Given the description of an element on the screen output the (x, y) to click on. 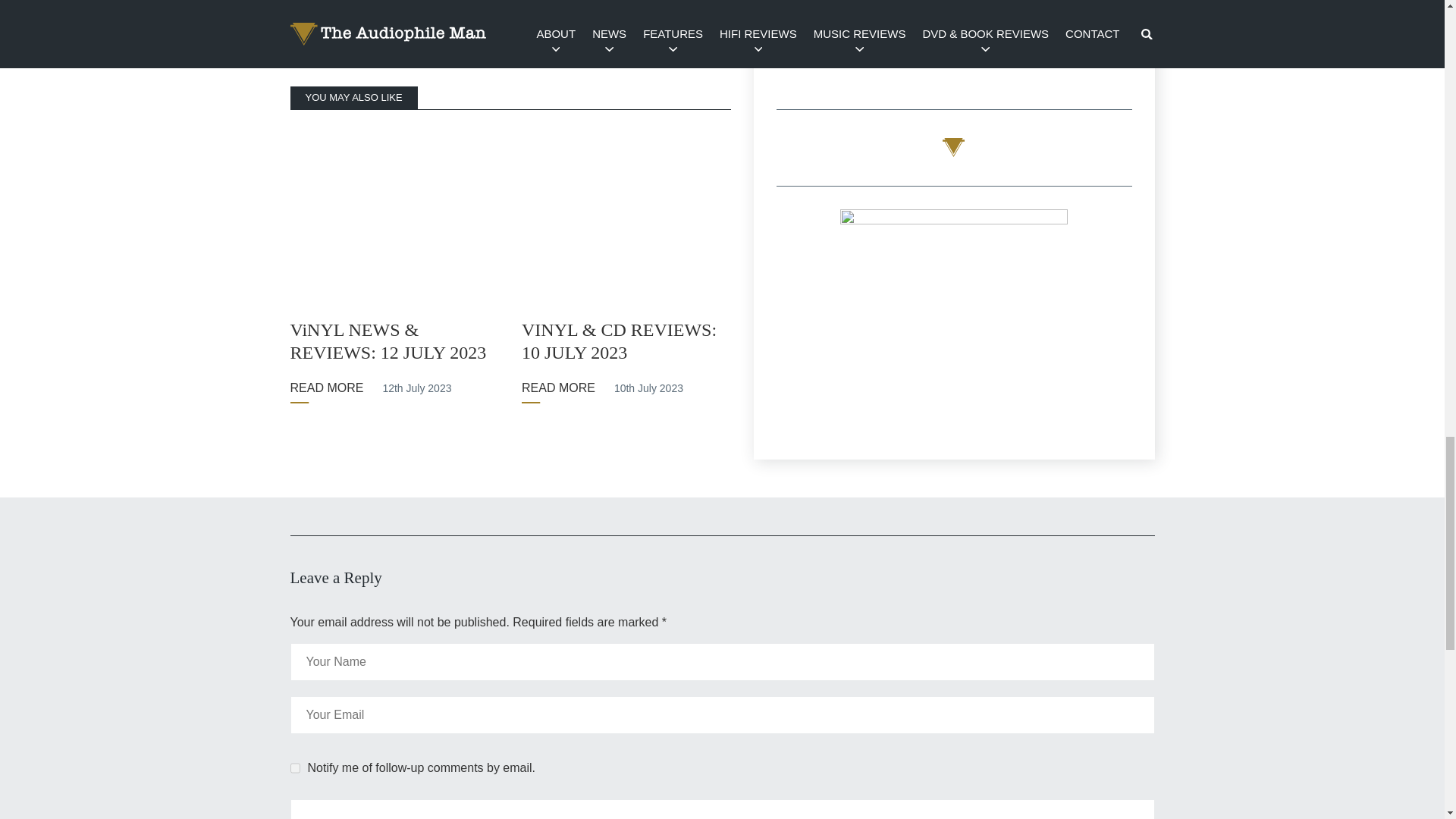
subscribe (294, 768)
